Given the description of an element on the screen output the (x, y) to click on. 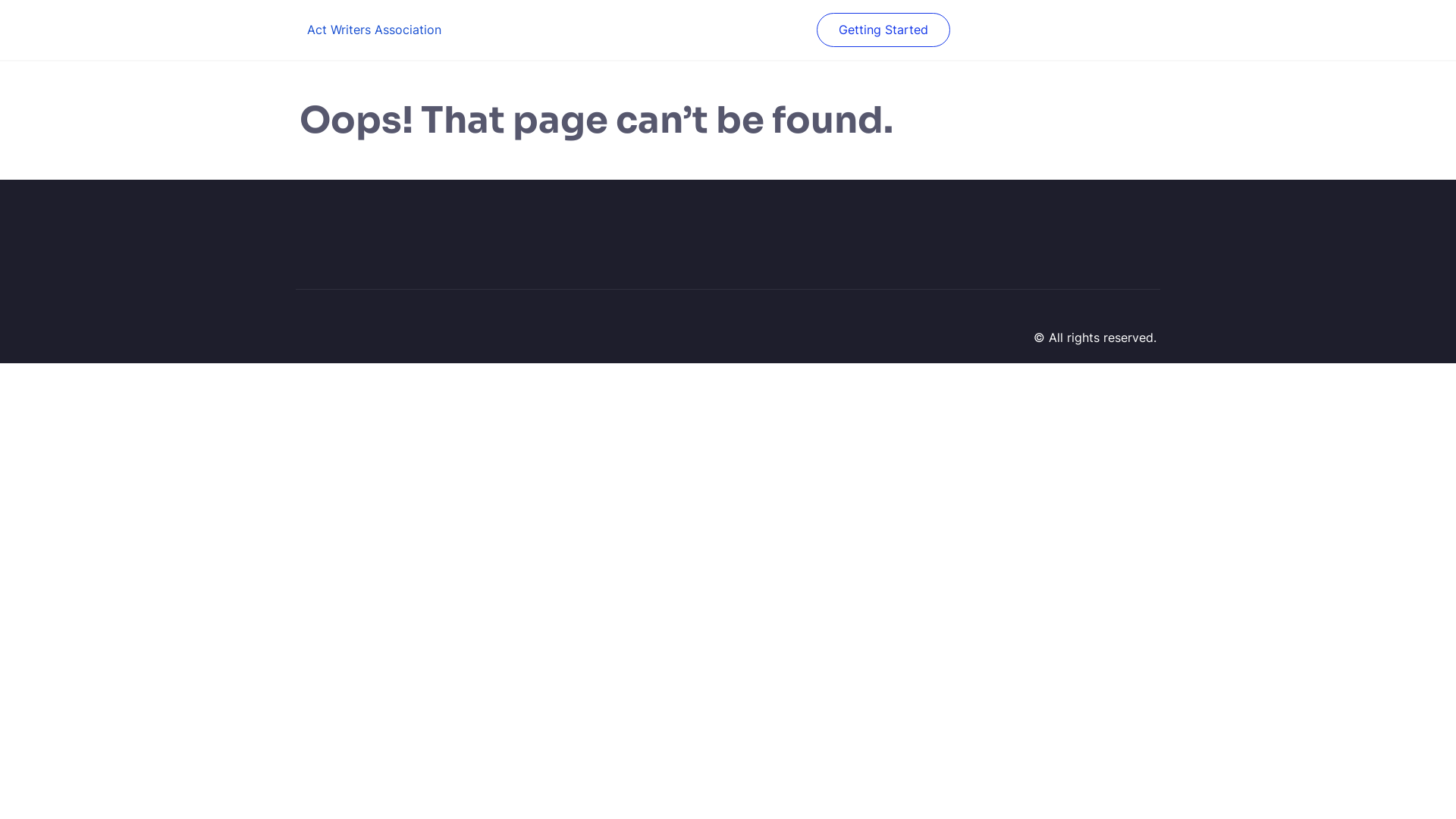
Getting Started Element type: text (883, 29)
Act Writers Association Element type: text (374, 29)
